Given the description of an element on the screen output the (x, y) to click on. 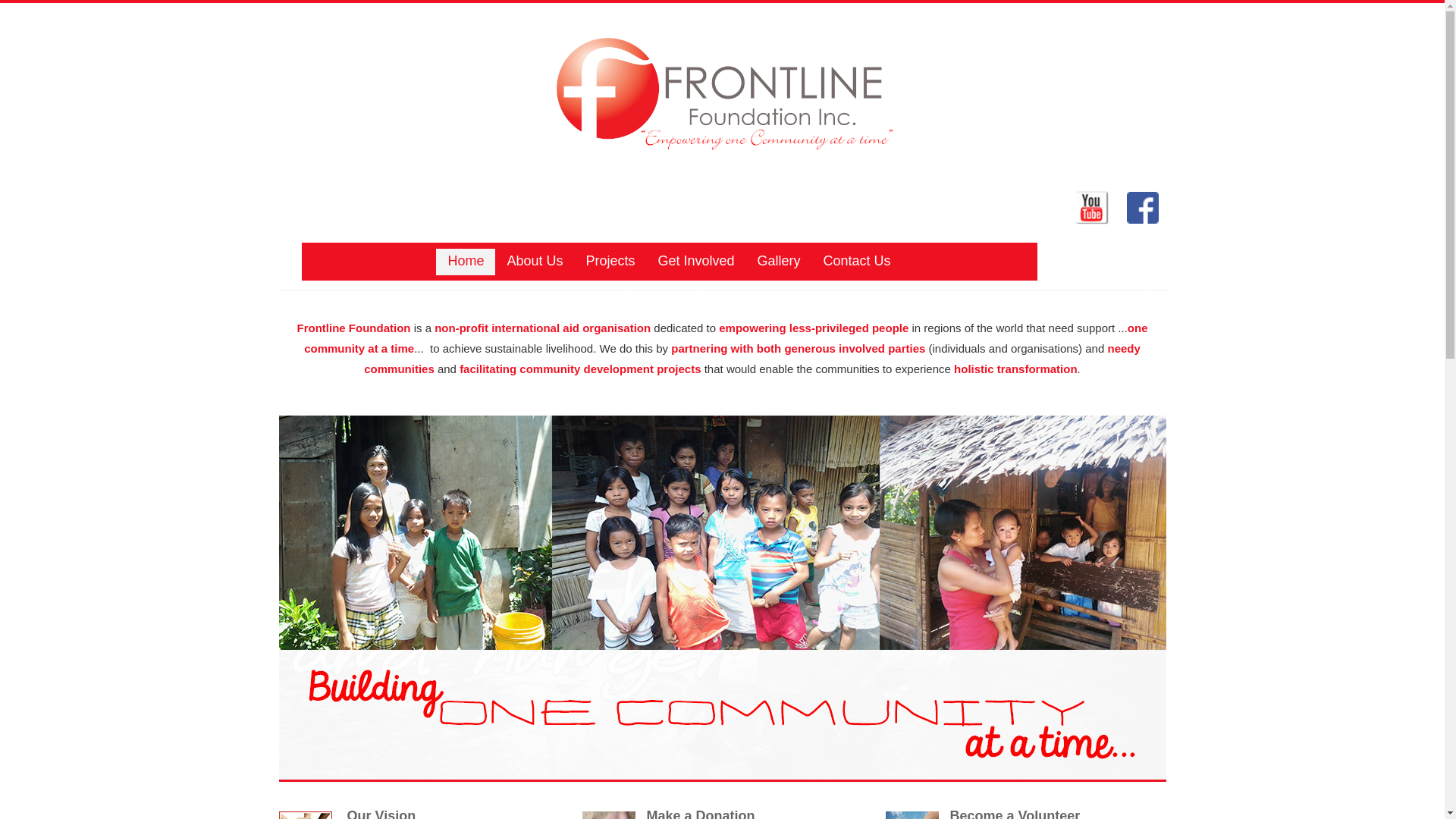
Projects Element type: text (610, 261)
Get Involved Element type: text (695, 261)
About Us Element type: text (534, 261)
Contact Us Element type: text (857, 261)
Gallery Element type: text (779, 261)
Home Element type: text (465, 261)
